Given the description of an element on the screen output the (x, y) to click on. 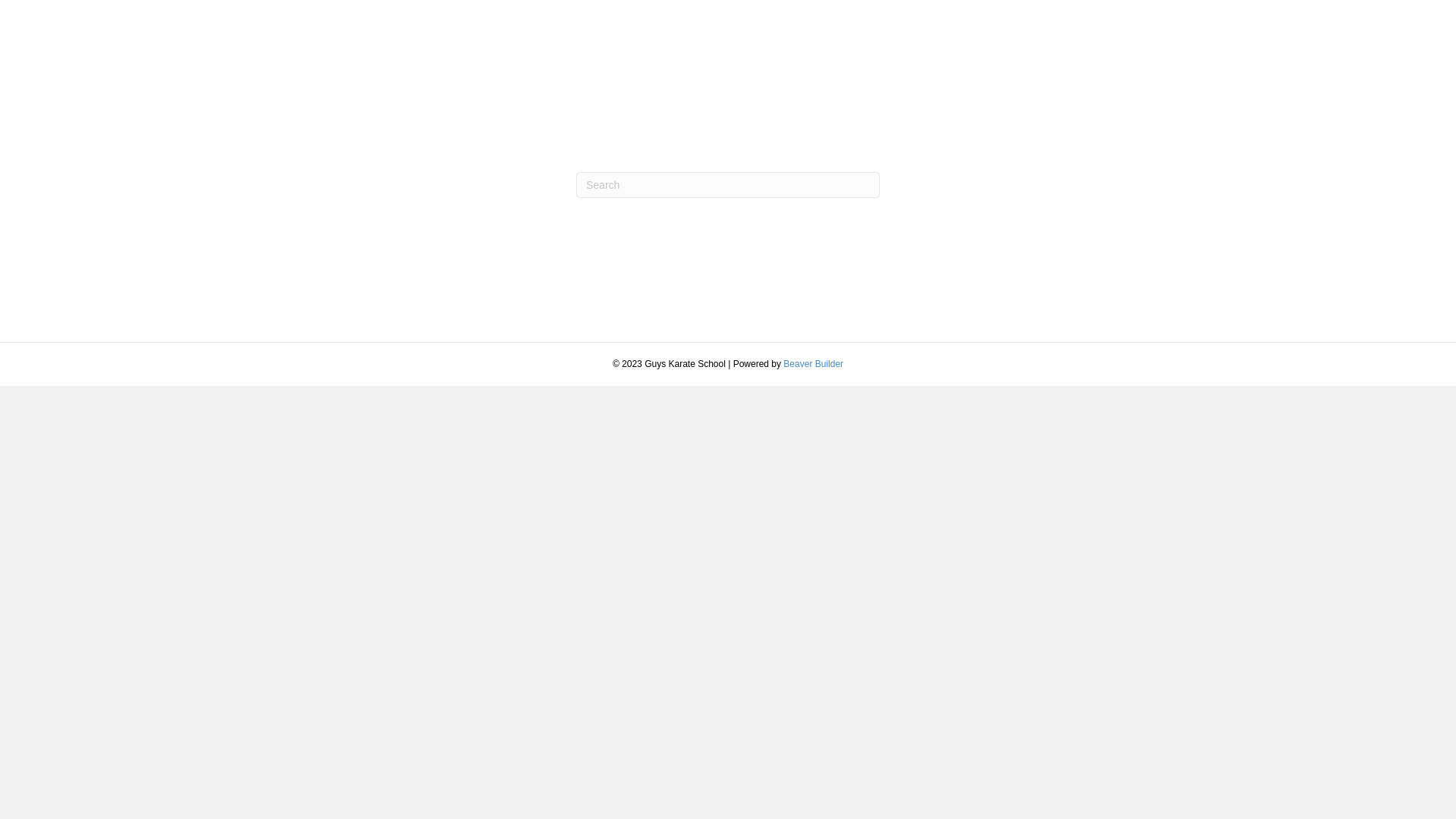
Type and press Enter to search. Element type: hover (727, 184)
Beaver Builder Element type: text (813, 363)
